Given the description of an element on the screen output the (x, y) to click on. 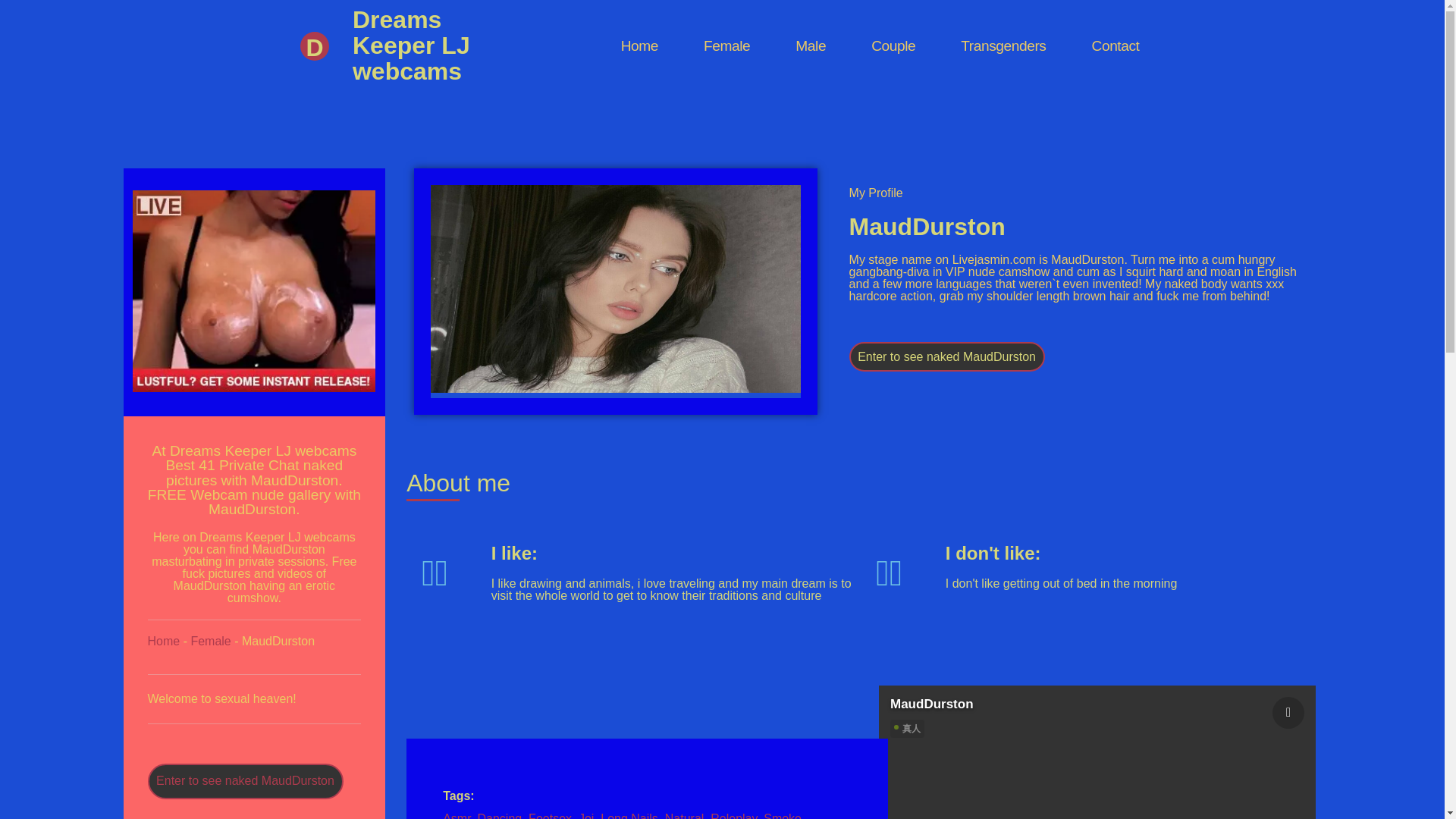
Male (809, 46)
Dreams Keeper LJ webcams (411, 45)
Transgenders (1002, 46)
Dreams Keeper LJ Webcams (317, 84)
Transgenders (1002, 46)
Male (809, 46)
Enter to see naked MaudDurston (244, 781)
Contact (1115, 46)
Dreams Keeper LJ Webcams (411, 45)
Dreams Keeper LJ Webcams (638, 46)
Couple (893, 46)
Female (210, 640)
Female (726, 46)
Home (638, 46)
Female (726, 46)
